Given the description of an element on the screen output the (x, y) to click on. 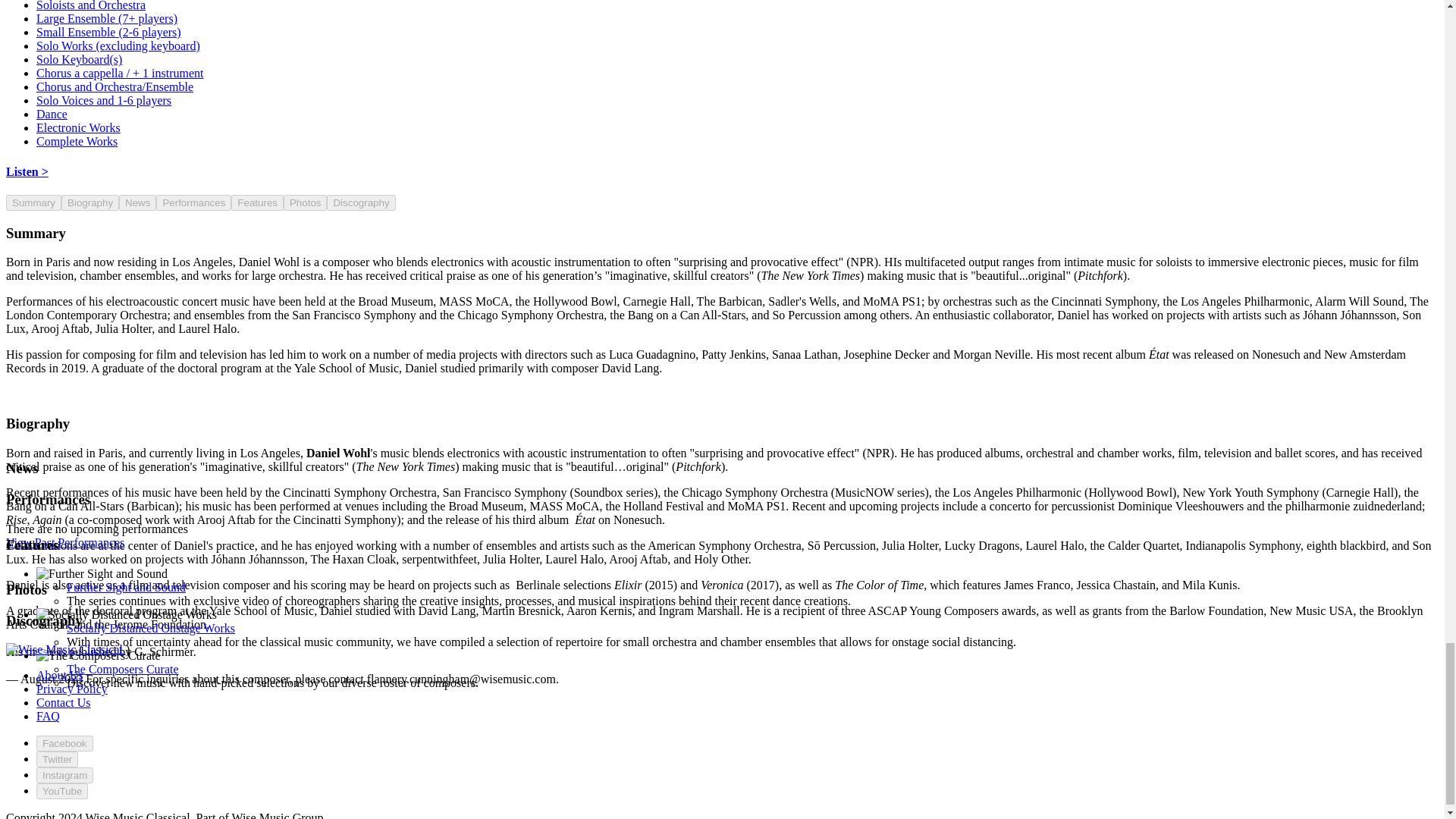
Facebook (64, 743)
Dance (51, 113)
Soloists and Orchestra (90, 5)
Electronic Works (78, 127)
The Composers Curate (122, 668)
Photos (305, 202)
Complete Works (76, 141)
News (137, 202)
Instagram (64, 774)
Privacy Policy (71, 688)
Further Sight and Sound (126, 586)
View Past Performances (64, 542)
About Us (59, 675)
Discography (360, 202)
Socially Distanced Onstage Works (150, 627)
